Given the description of an element on the screen output the (x, y) to click on. 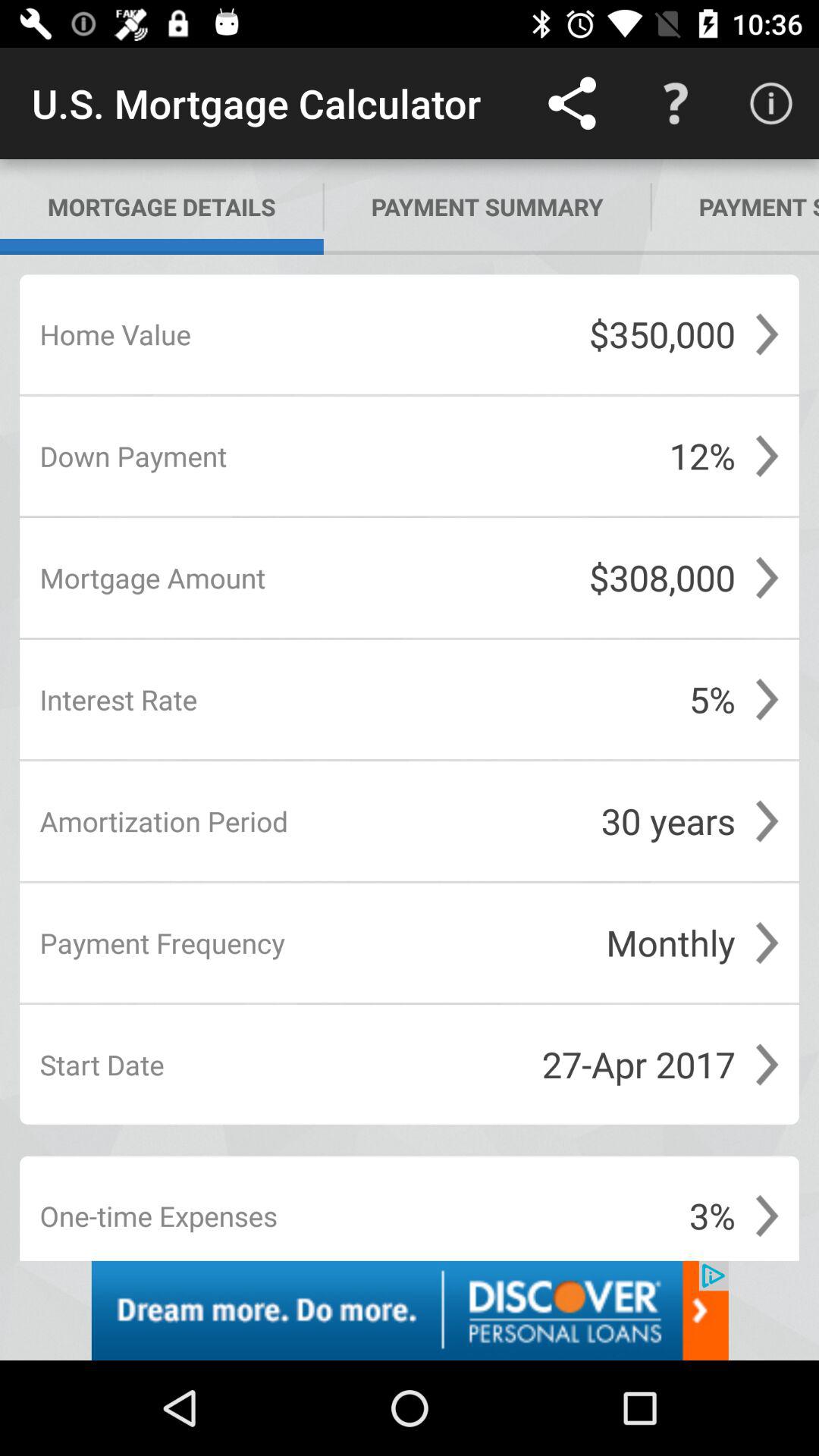
go to personal loan app (409, 1310)
